Given the description of an element on the screen output the (x, y) to click on. 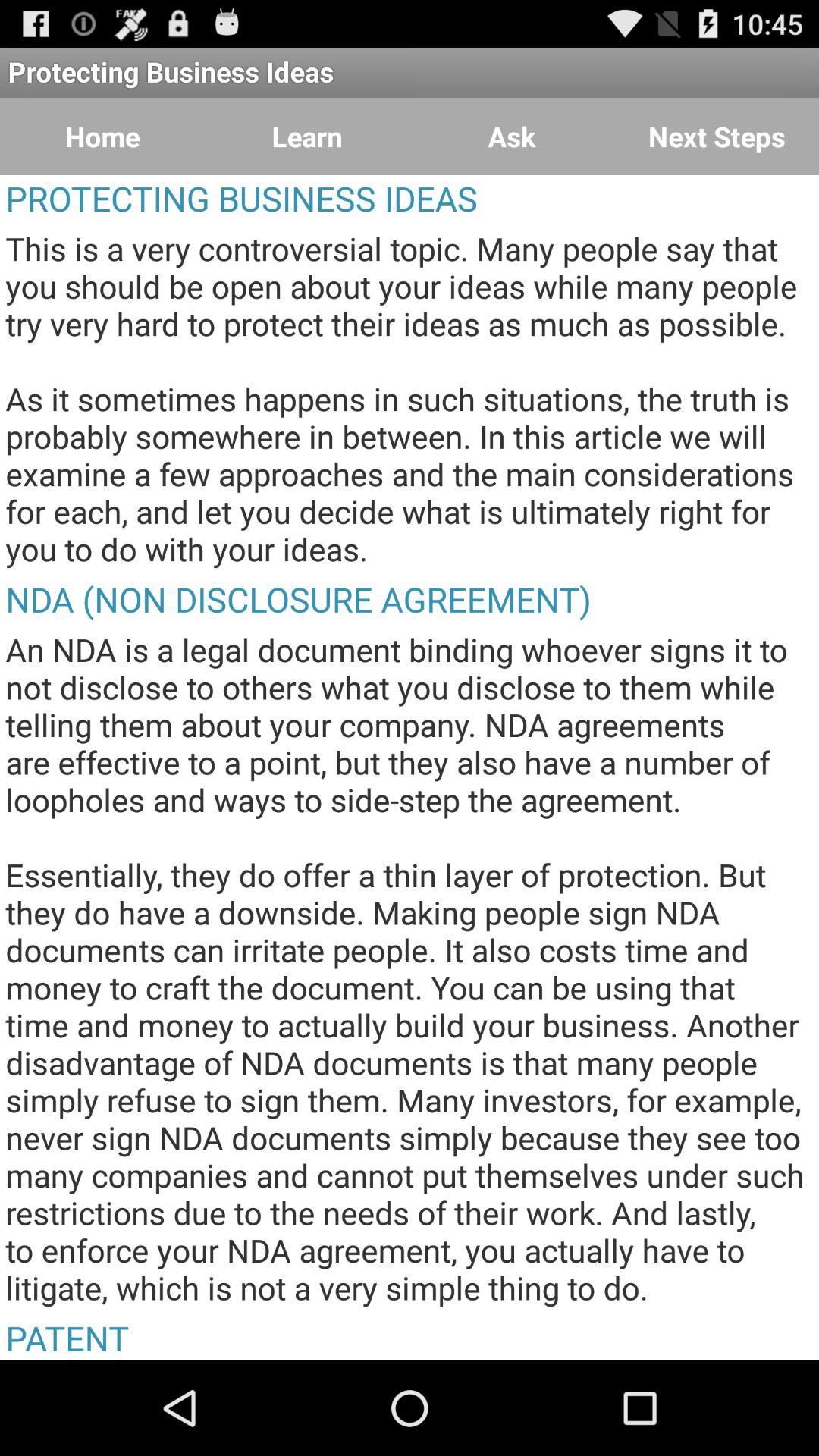
select the item below the protecting business ideas (511, 136)
